Given the description of an element on the screen output the (x, y) to click on. 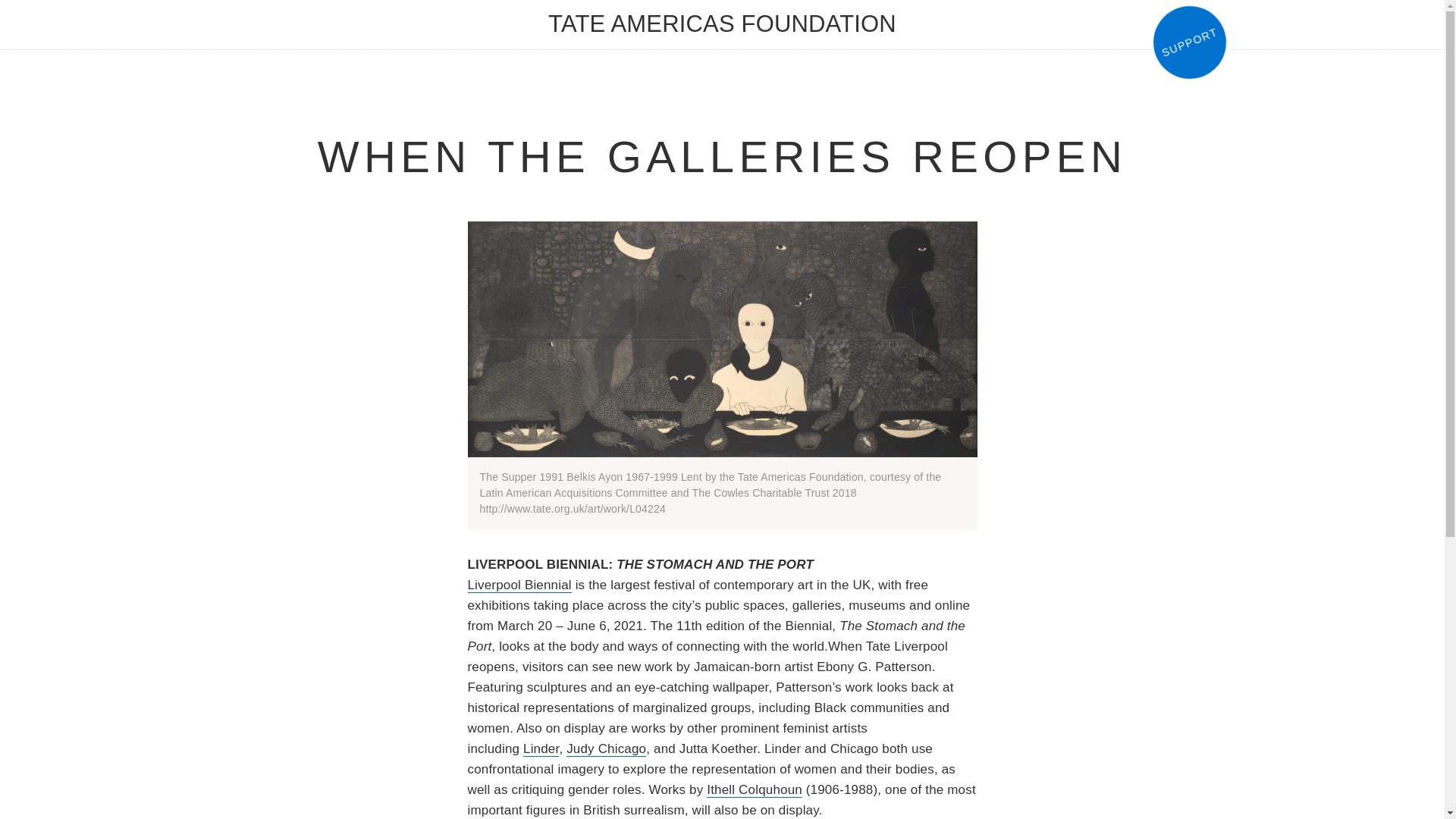
Judy Chicago (606, 749)
Ithell Colquhoun (754, 789)
Liverpool Biennial (518, 585)
SUPPORT (1177, 33)
Linder (540, 749)
TATE AMERICAS FOUNDATION (722, 23)
COMMITTEES (661, 18)
SUPPORT (777, 18)
CONTACT (877, 18)
ABOUT (556, 18)
